Given the description of an element on the screen output the (x, y) to click on. 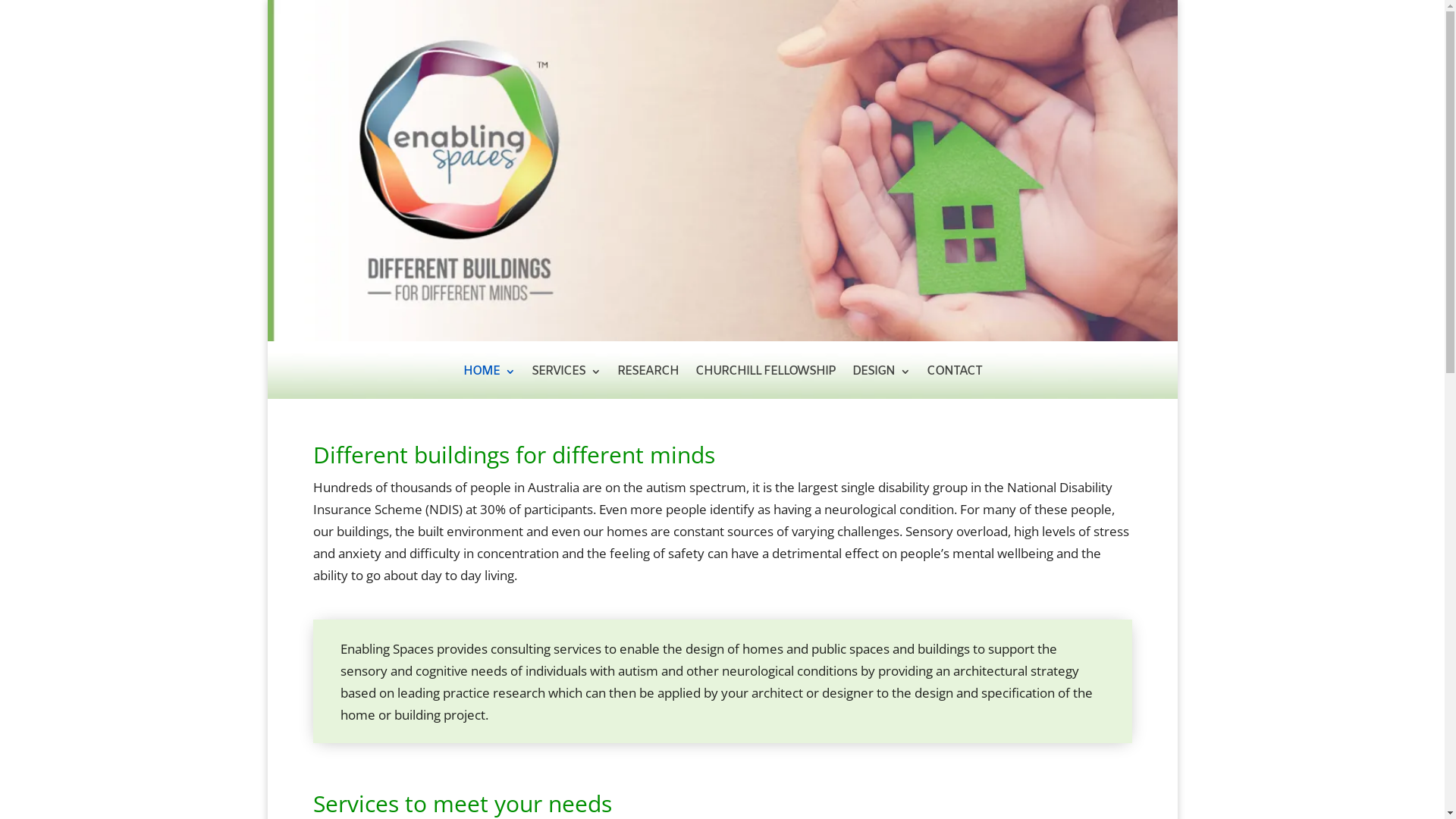
Different buildings for different minds Element type: hover (721, 170)
CONTACT Element type: text (954, 382)
DESIGN Element type: text (881, 382)
HOME Element type: text (488, 382)
SERVICES Element type: text (564, 382)
CHURCHILL FELLOWSHIP Element type: text (764, 382)
RESEARCH Element type: text (647, 382)
